Given the description of an element on the screen output the (x, y) to click on. 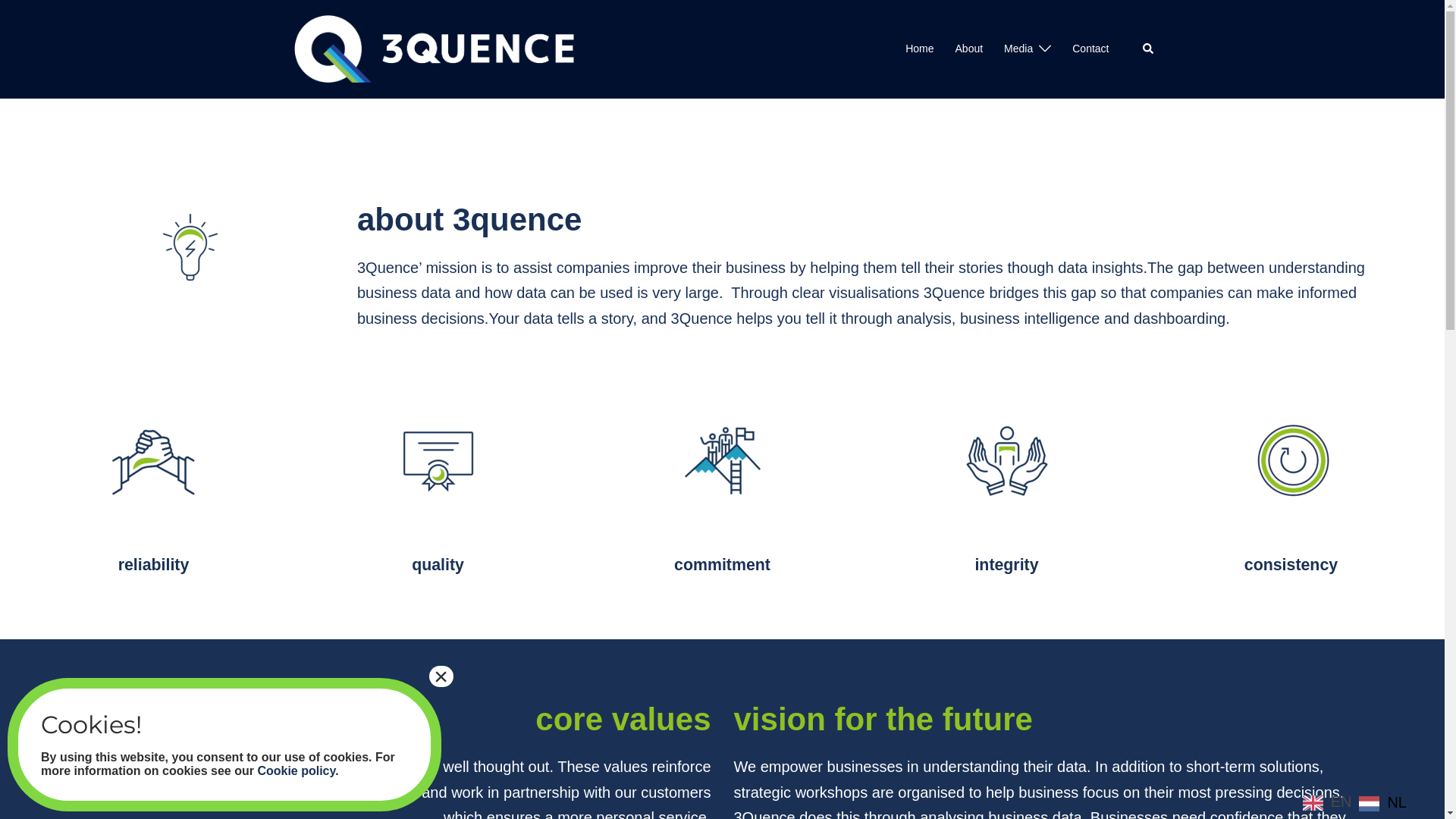
Home Element type: text (919, 49)
About Element type: text (969, 49)
NL Element type: text (1382, 801)
Media Element type: text (1018, 49)
3Quence_icons_Commitment Element type: hover (722, 460)
3Quence_icons_Reliability Element type: hover (153, 460)
3Quence_icons_Integrity Element type: hover (1006, 460)
Search Element type: text (1148, 49)
3Quence_icons_Consistency Element type: hover (1291, 460)
Contact Element type: text (1090, 49)
3Quence_icons_Quality Element type: hover (437, 460)
Cookie policy. Element type: text (297, 770)
3Quence Element type: hover (433, 47)
3Quence_icons_CriticalDecisions Element type: hover (190, 247)
